Given the description of an element on the screen output the (x, y) to click on. 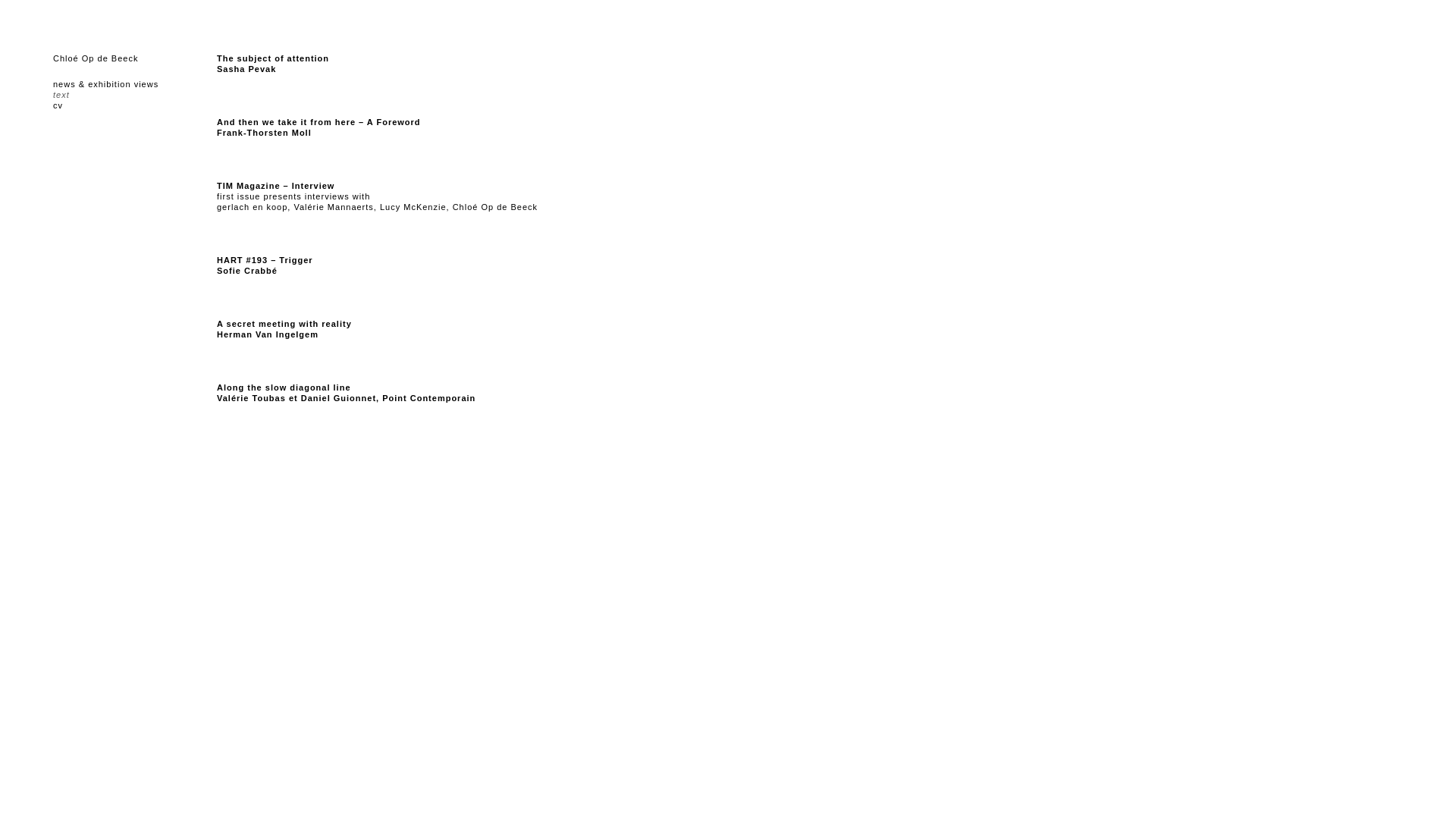
Frank-Thorsten Moll Element type: text (263, 132)
A secret meeting with reality Element type: text (283, 323)
text Element type: text (134, 94)
cv Element type: text (134, 105)
The subject of attention Element type: text (272, 57)
Along the slow diagonal line Element type: text (283, 387)
Sasha Pevak Element type: text (246, 68)
news & exhibition views Element type: text (134, 83)
